Given the description of an element on the screen output the (x, y) to click on. 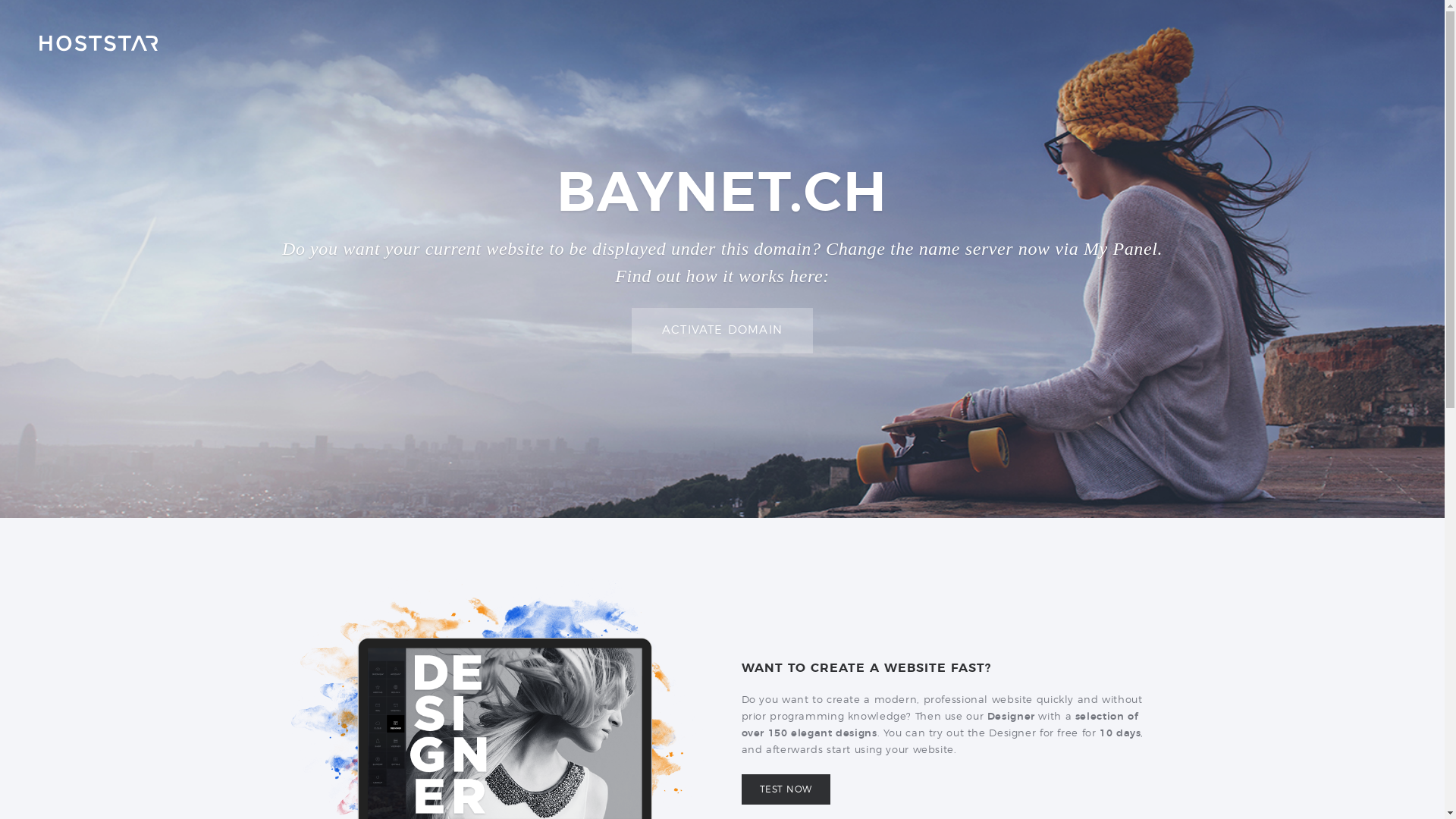
ACTIVATE DOMAIN Element type: text (721, 330)
TEST NOW Element type: text (785, 789)
ACTIVATE DOMAIN Element type: text (721, 330)
